Given the description of an element on the screen output the (x, y) to click on. 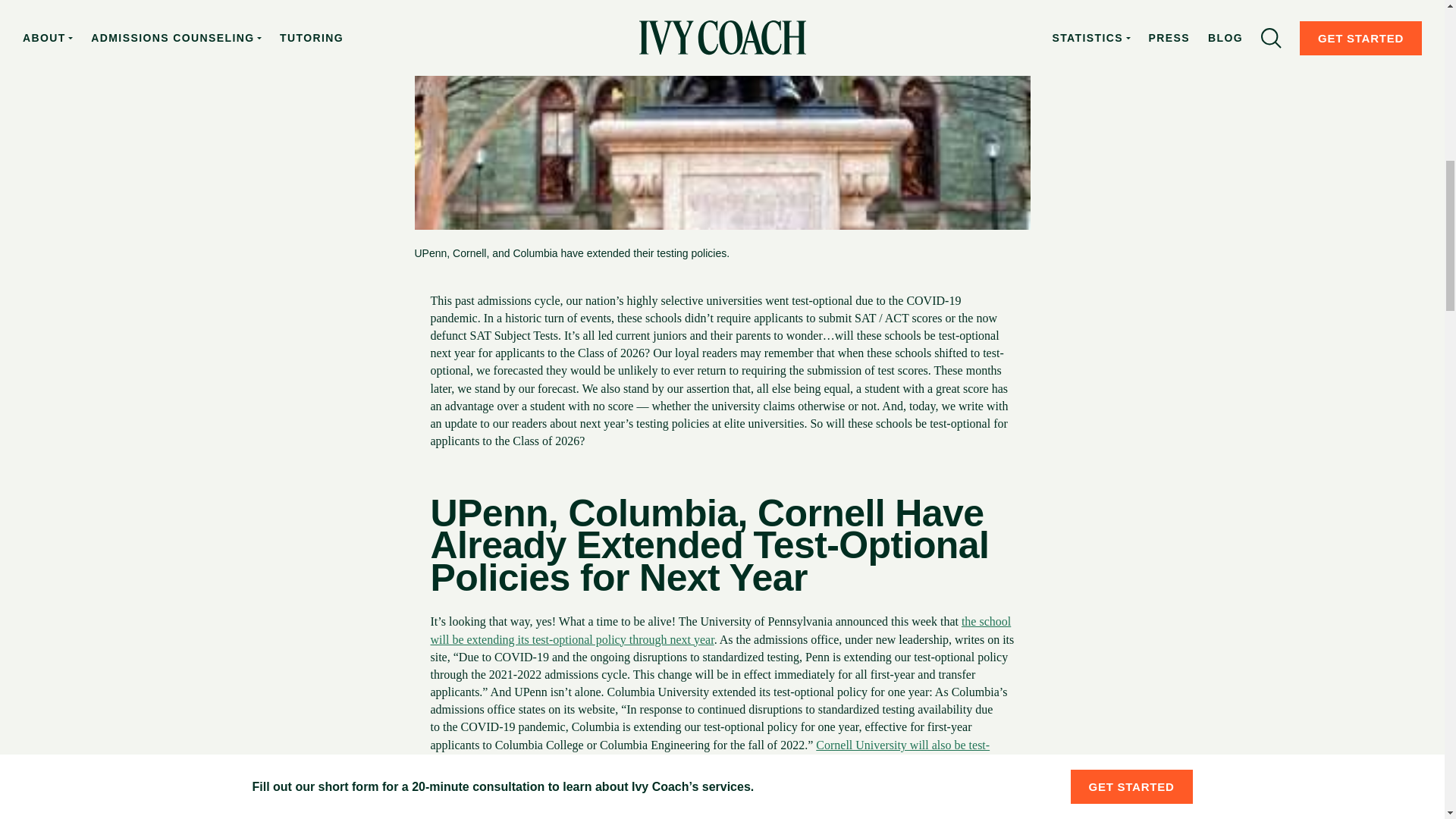
Cornell University will also be test-optional (710, 753)
